Given the description of an element on the screen output the (x, y) to click on. 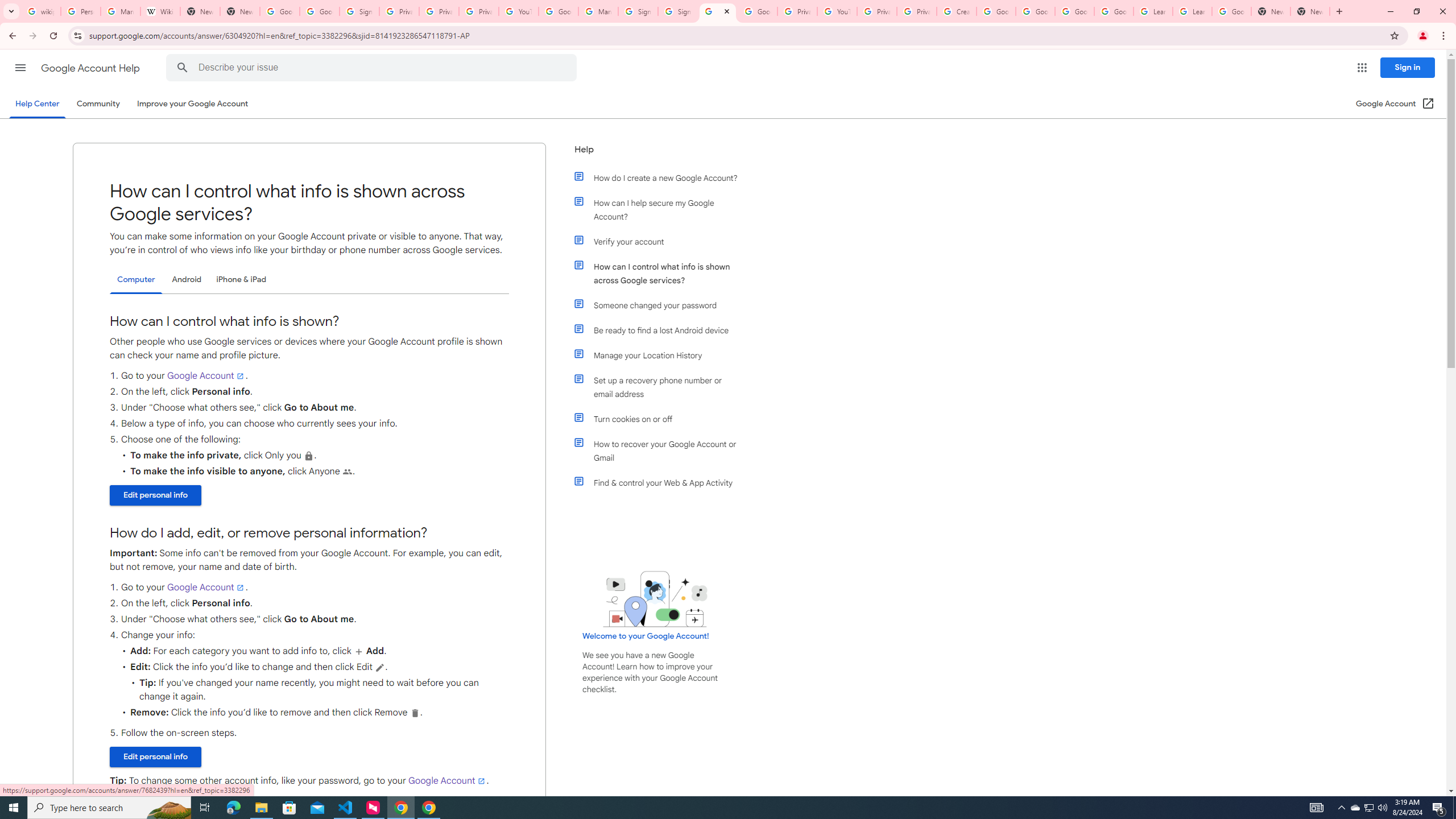
Be ready to find a lost Android device (661, 330)
Search Help Center (181, 67)
Google Account Help (1113, 11)
Google Account (446, 780)
Sign in - Google Accounts (359, 11)
New Tab (1310, 11)
Learning Center home page image (655, 598)
Edit personal info (155, 756)
Private, tap to edit who can see this info (309, 455)
Add user (358, 651)
